Given the description of an element on the screen output the (x, y) to click on. 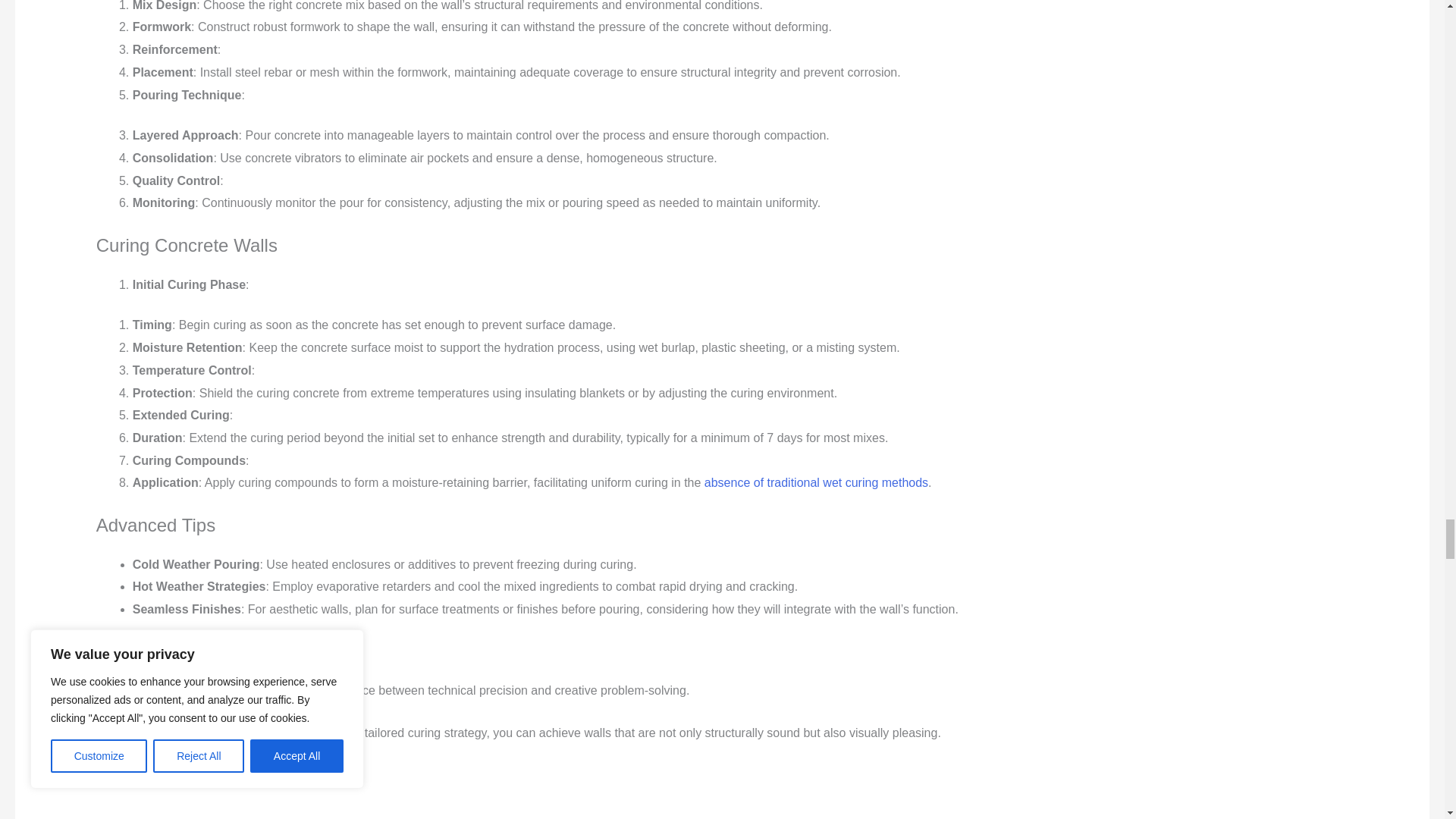
absence of traditional wet curing methods (816, 481)
